Given the description of an element on the screen output the (x, y) to click on. 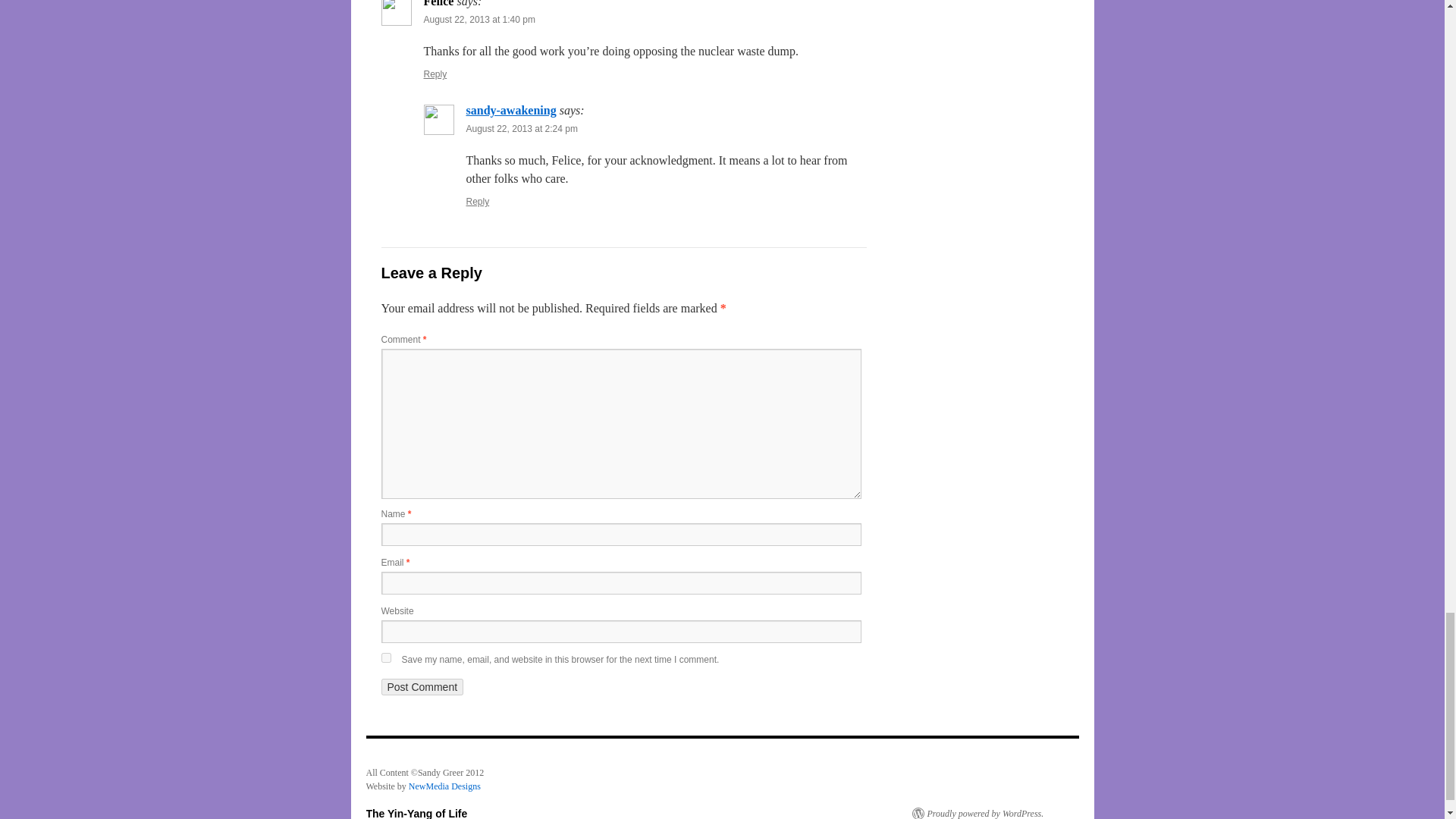
August 22, 2013 at 1:40 pm (478, 19)
Post Comment (421, 686)
August 22, 2013 at 2:24 pm (520, 128)
sandy-awakening (510, 110)
Post Comment (421, 686)
yes (385, 657)
Reply (477, 201)
Reply (434, 73)
